Given the description of an element on the screen output the (x, y) to click on. 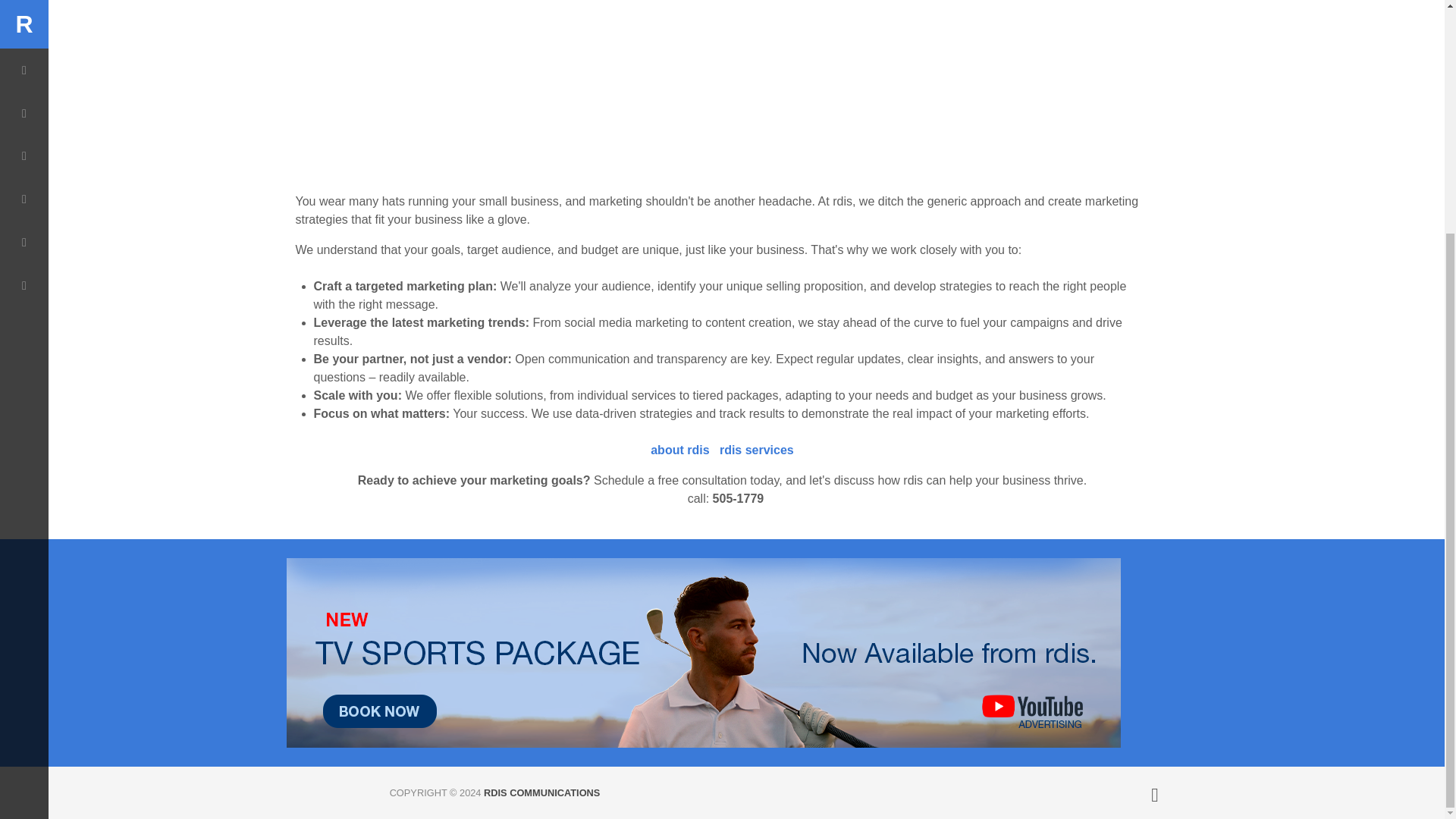
RDIS COMMUNICATIONS (541, 792)
about rdis (679, 449)
rdis communications (541, 792)
rdis services (756, 449)
